Given the description of an element on the screen output the (x, y) to click on. 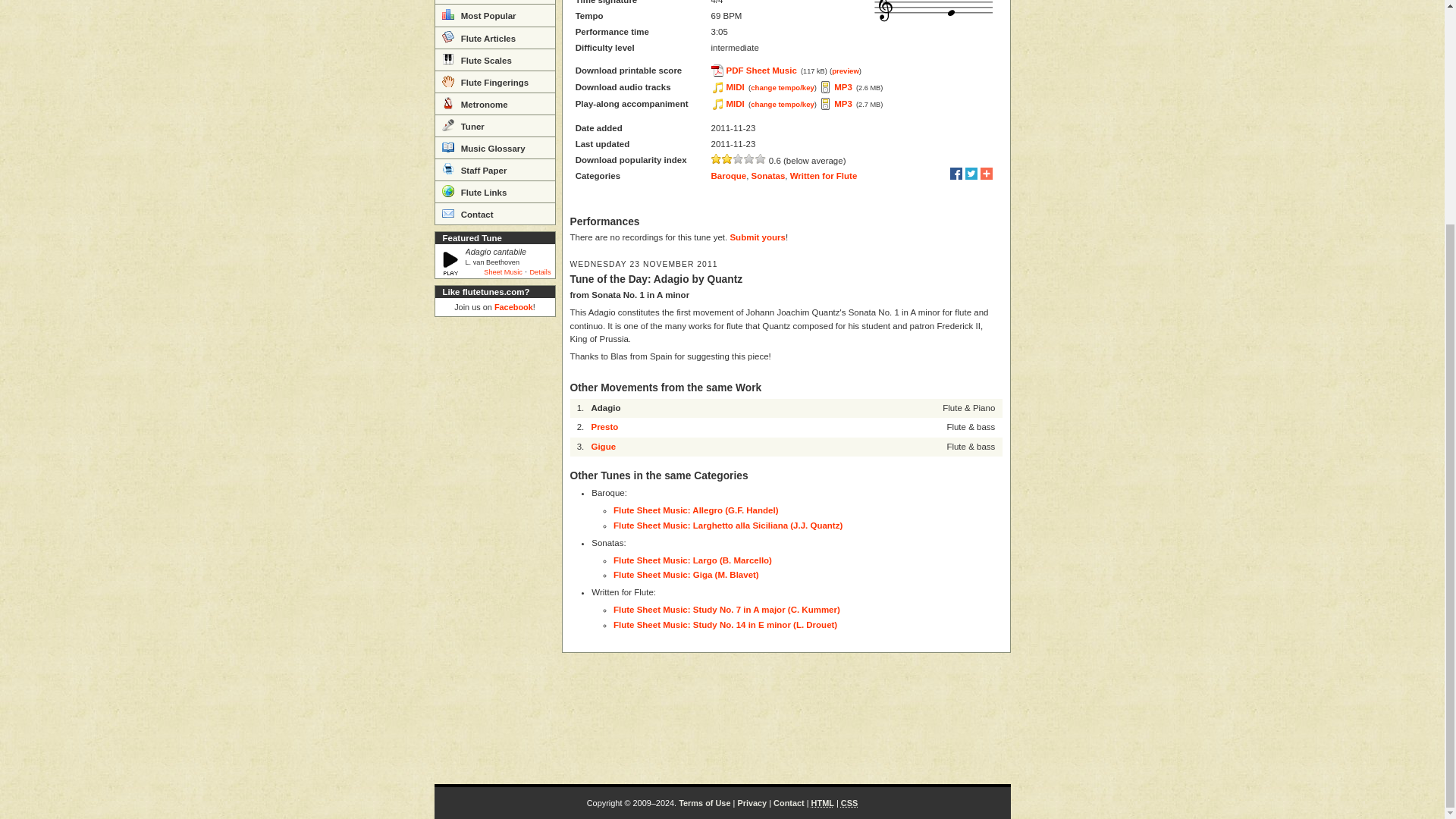
Tuner (494, 125)
PDF Sheet Music (754, 70)
Baroque (728, 175)
MP3 (835, 103)
preview (845, 70)
Flute Links (494, 191)
Music Glossary (494, 147)
MP3 (835, 87)
Sheet Music (502, 272)
Share... (985, 173)
Flute Scales (494, 59)
Submit yours (756, 236)
Facebook (513, 307)
Staff Paper (494, 169)
MIDI (728, 87)
